Given the description of an element on the screen output the (x, y) to click on. 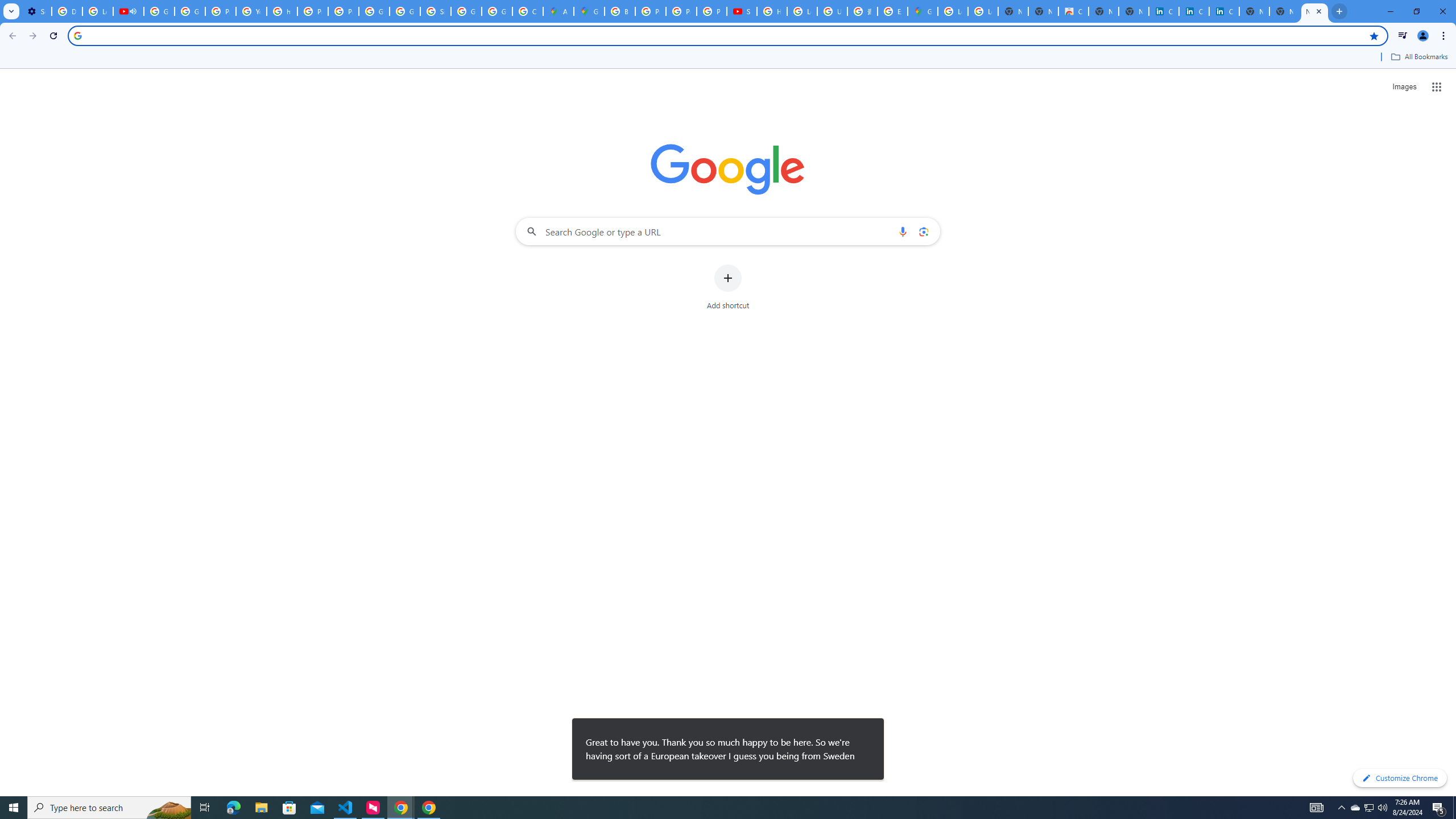
Google Account Help (158, 11)
Copyright Policy (1224, 11)
